Given the description of an element on the screen output the (x, y) to click on. 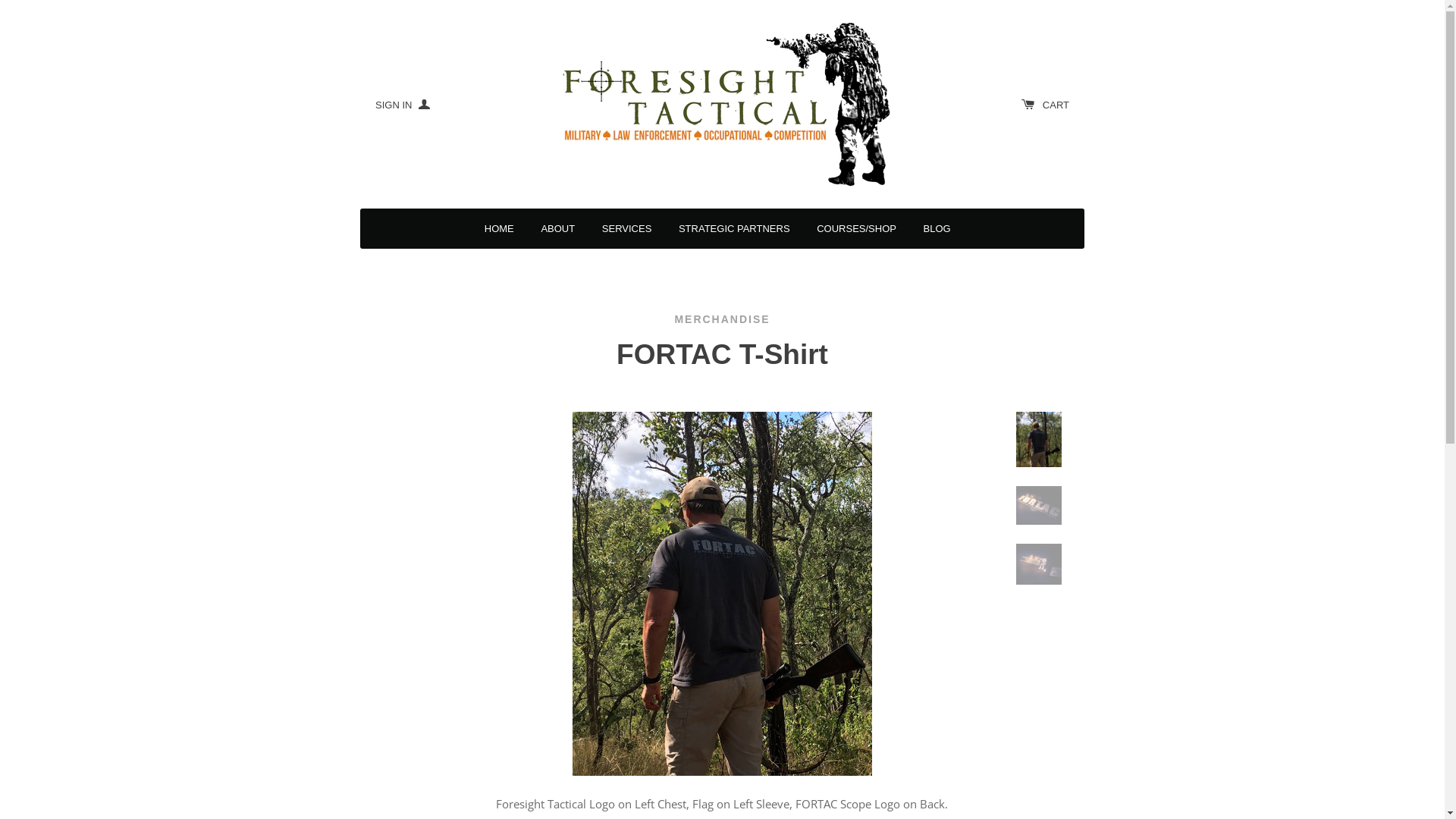
CART Element type: text (1045, 104)
SIGN IN Element type: text (402, 104)
STRATEGIC PARTNERS Element type: text (734, 228)
HOME Element type: text (499, 228)
ABOUT Element type: text (557, 228)
SERVICES Element type: text (626, 228)
COURSES/SHOP Element type: text (856, 228)
BLOG Element type: text (937, 228)
MERCHANDISE Element type: text (721, 319)
